Given the description of an element on the screen output the (x, y) to click on. 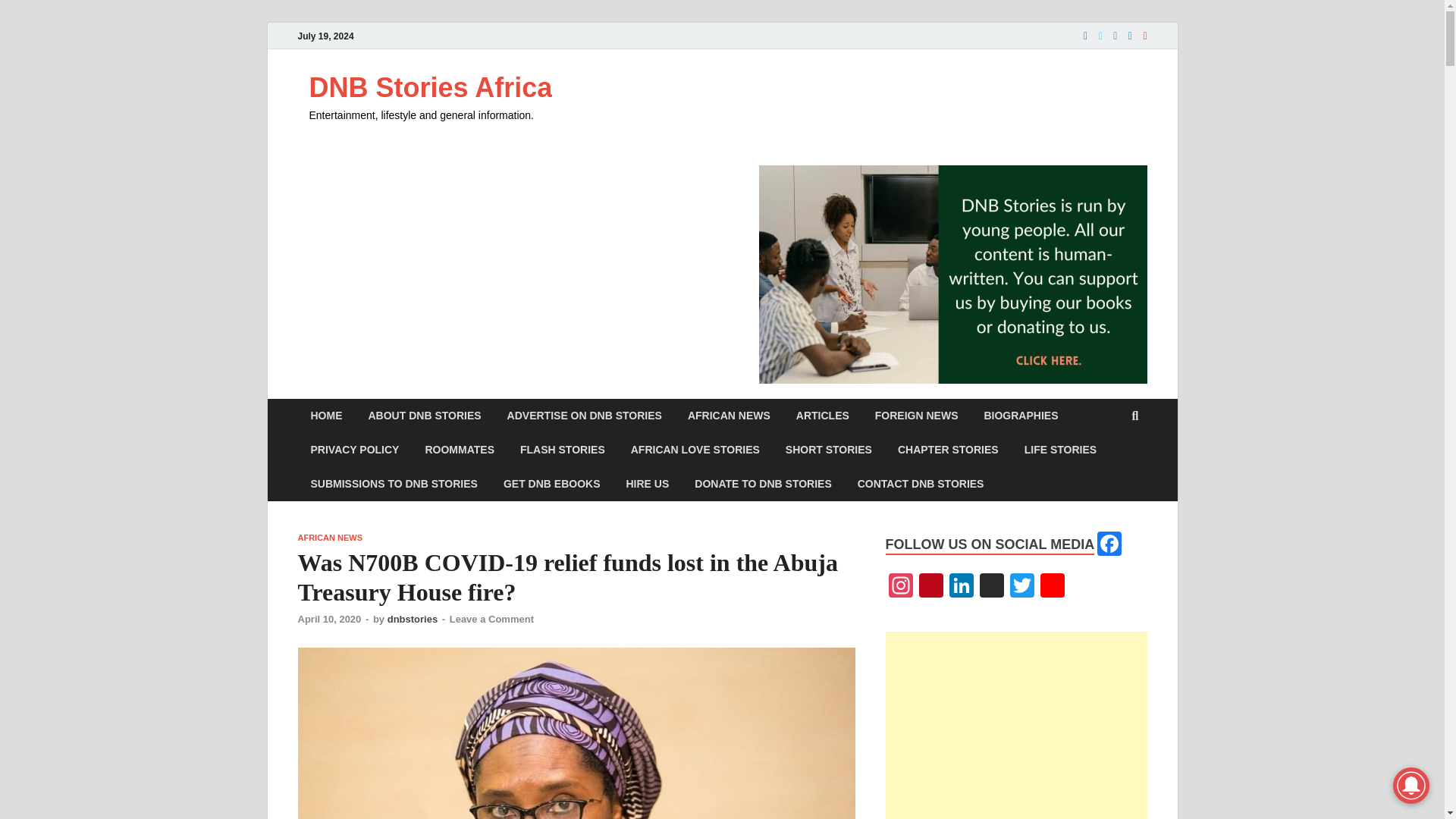
Leave a Comment (491, 618)
ADVERTISE ON DNB STORIES (585, 415)
ROOMMATES (459, 449)
CHAPTER STORIES (948, 449)
DONATE TO DNB STORIES (762, 483)
AFRICAN LOVE STORIES (695, 449)
CONTACT DNB STORIES (920, 483)
AFRICAN NEWS (329, 537)
GET DNB EBOOKS (551, 483)
SUBMISSIONS TO DNB STORIES (393, 483)
April 10, 2020 (329, 618)
AFRICAN NEWS (729, 415)
FOREIGN NEWS (916, 415)
dnbstories (412, 618)
ARTICLES (822, 415)
